Given the description of an element on the screen output the (x, y) to click on. 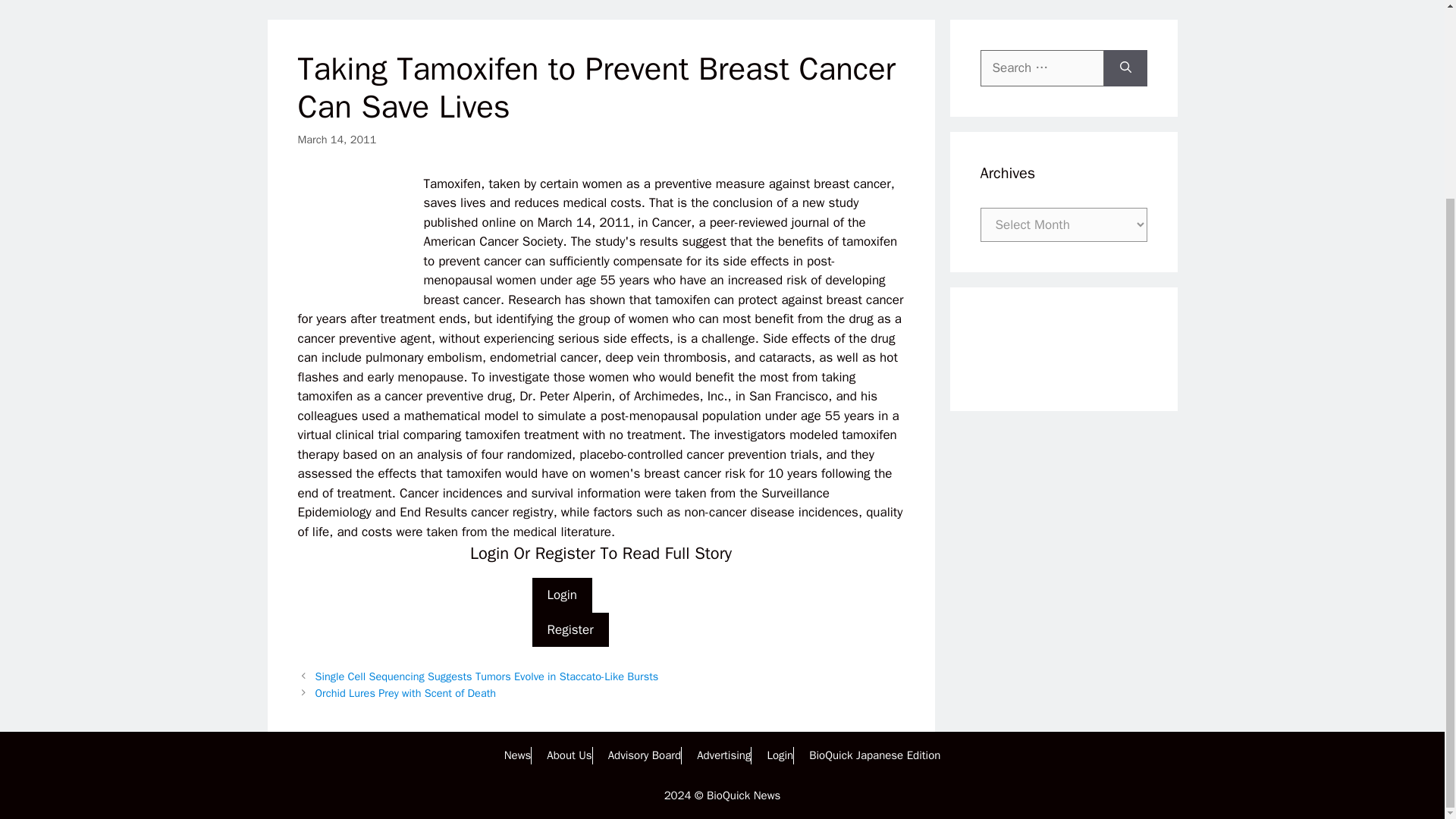
News (517, 755)
Login (562, 595)
Advisory Board (644, 755)
Orchid Lures Prey with Scent of Death (405, 693)
Advertising (724, 755)
BioQuick Japanese Edition (874, 755)
About Us (569, 755)
Search for: (1041, 67)
Login (780, 755)
Register (570, 629)
